Given the description of an element on the screen output the (x, y) to click on. 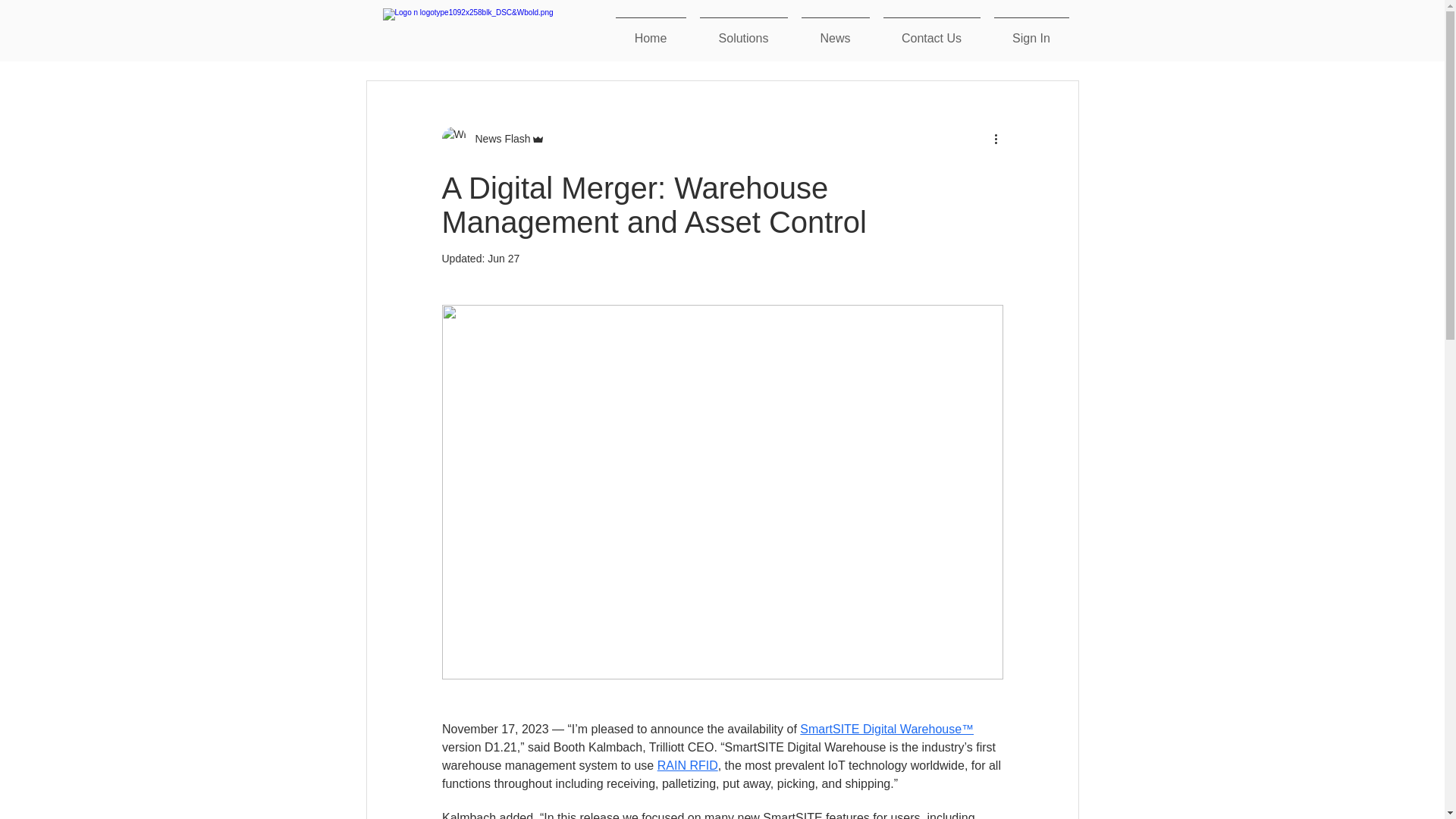
News (835, 31)
News Flash (497, 138)
RAIN RFID (686, 766)
Jun 27 (503, 258)
Contact Us (931, 31)
Sign In (1031, 31)
Home (650, 31)
